Given the description of an element on the screen output the (x, y) to click on. 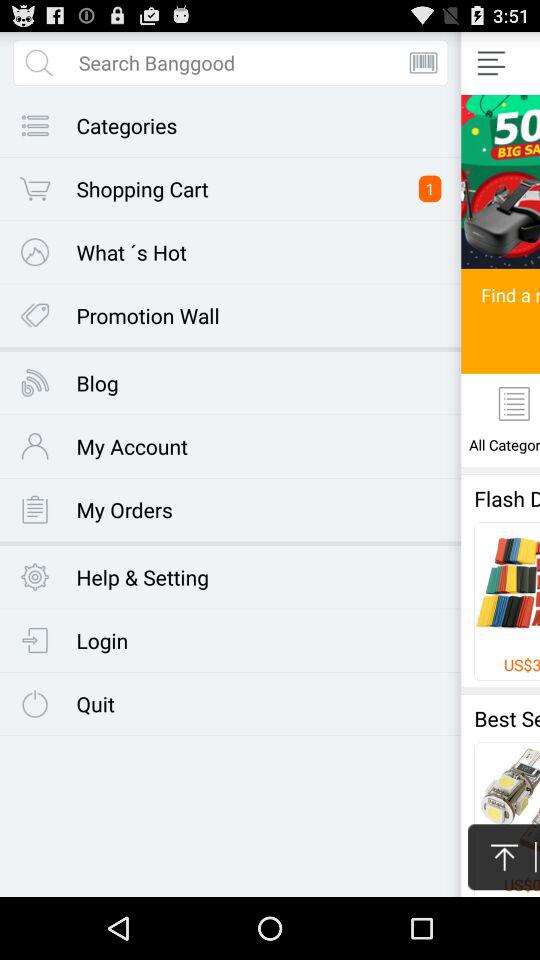
click on quit (119, 712)
